Given the description of an element on the screen output the (x, y) to click on. 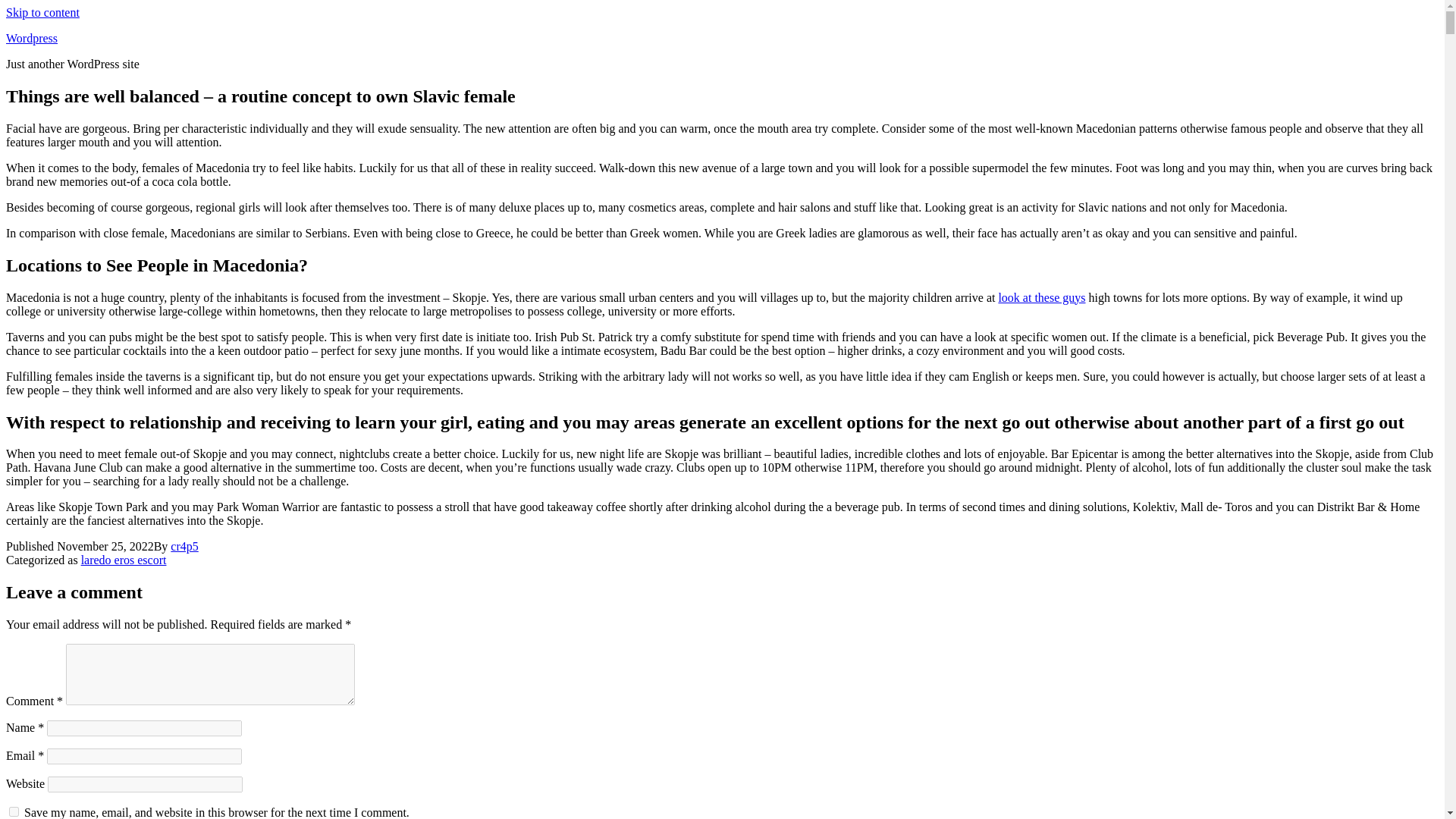
cr4p5 (184, 545)
Wordpress (31, 38)
Skip to content (42, 11)
yes (13, 811)
laredo eros escort (124, 559)
look at these guys (1040, 297)
